Given the description of an element on the screen output the (x, y) to click on. 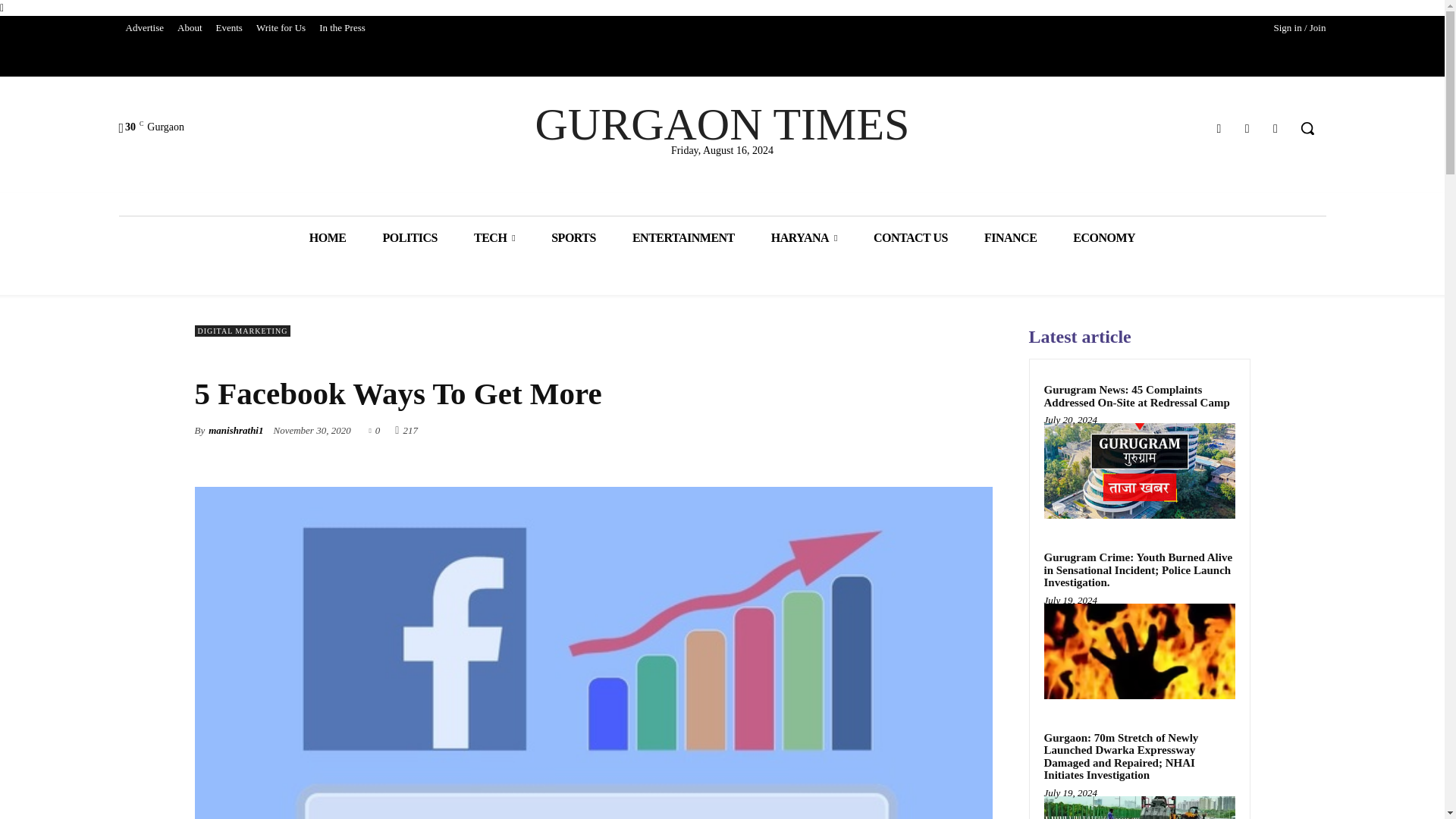
TECH (493, 237)
Write for Us (280, 27)
Advertise (143, 27)
Twitter (1246, 127)
In the Press (342, 27)
Events (228, 27)
Facebook (1218, 127)
HOME (328, 237)
Youtube (1275, 127)
ENTERTAINMENT (683, 237)
